Given the description of an element on the screen output the (x, y) to click on. 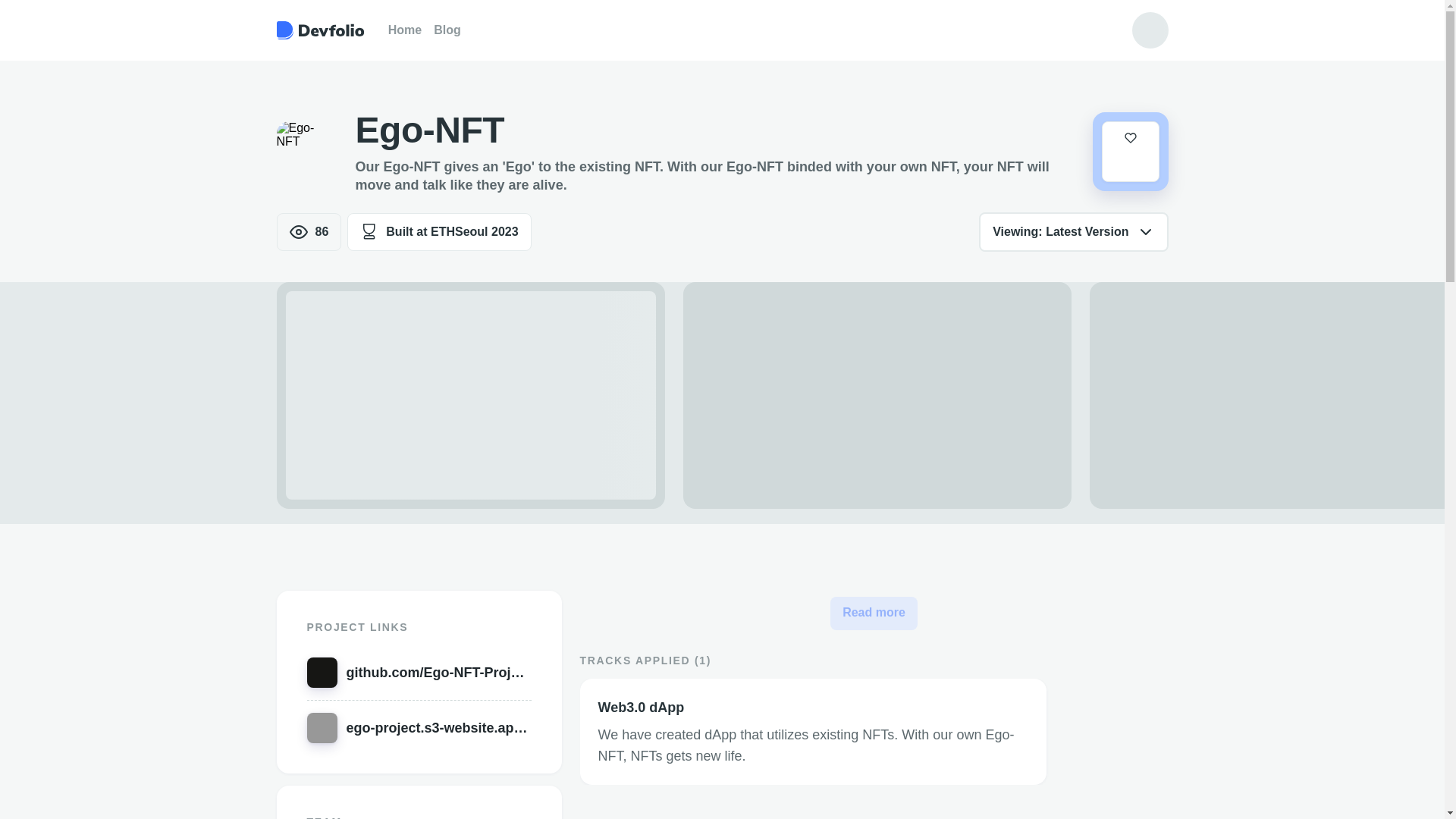
Blog (447, 29)
4 (1129, 151)
Home (405, 29)
Viewing: Latest Version (1072, 231)
Built at ETHSeoul 2023 (439, 231)
Read more (873, 612)
